Given the description of an element on the screen output the (x, y) to click on. 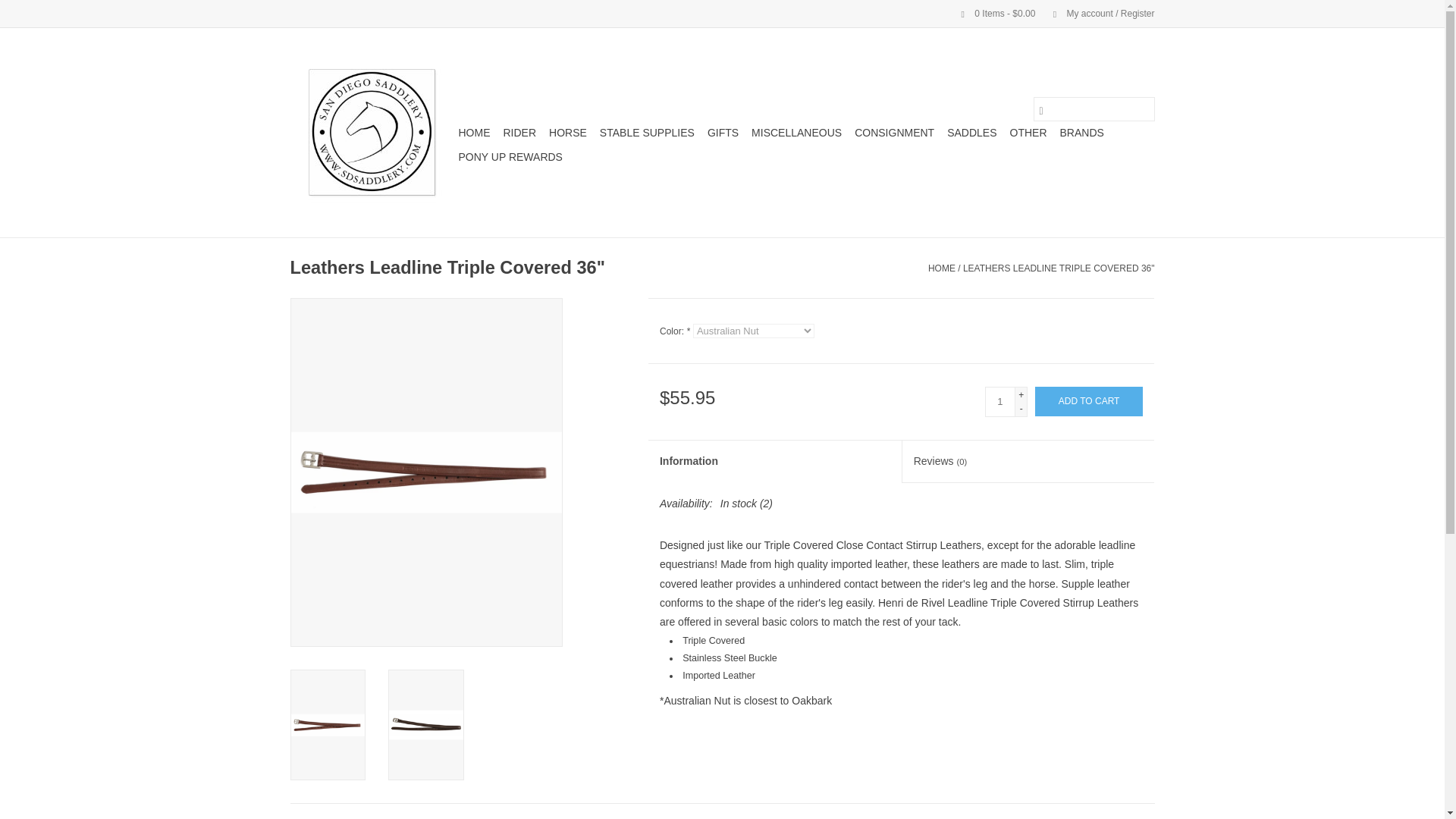
My account (1096, 13)
HORSE (567, 131)
HOME (473, 131)
1 (999, 401)
Cart (992, 13)
Rider (520, 131)
San Diego Saddlery (370, 132)
RIDER (520, 131)
